Given the description of an element on the screen output the (x, y) to click on. 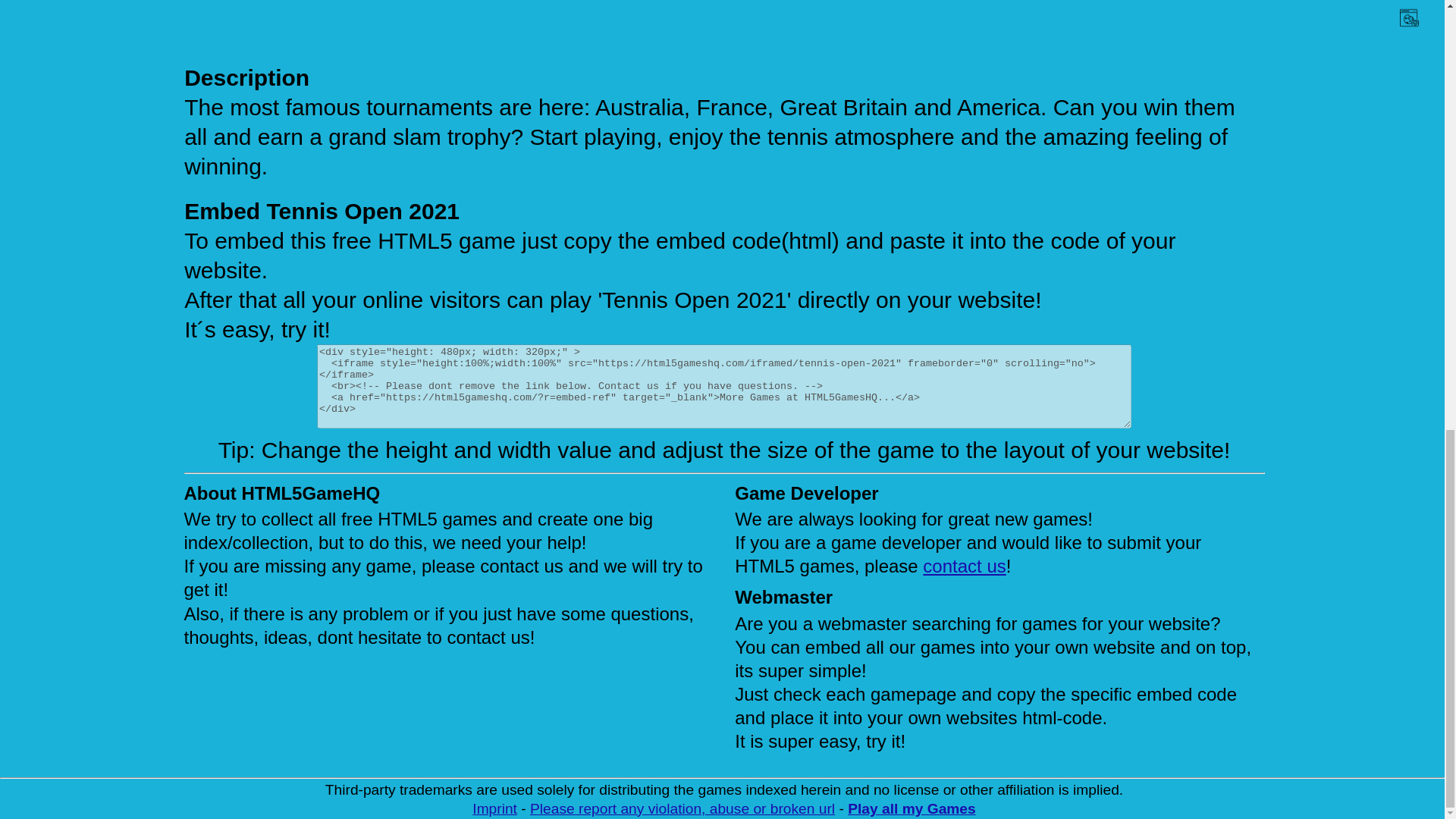
contact us (964, 566)
Please report any violation, abuse or broken url (681, 808)
Imprint (493, 808)
Play all my Games (911, 808)
